Given the description of an element on the screen output the (x, y) to click on. 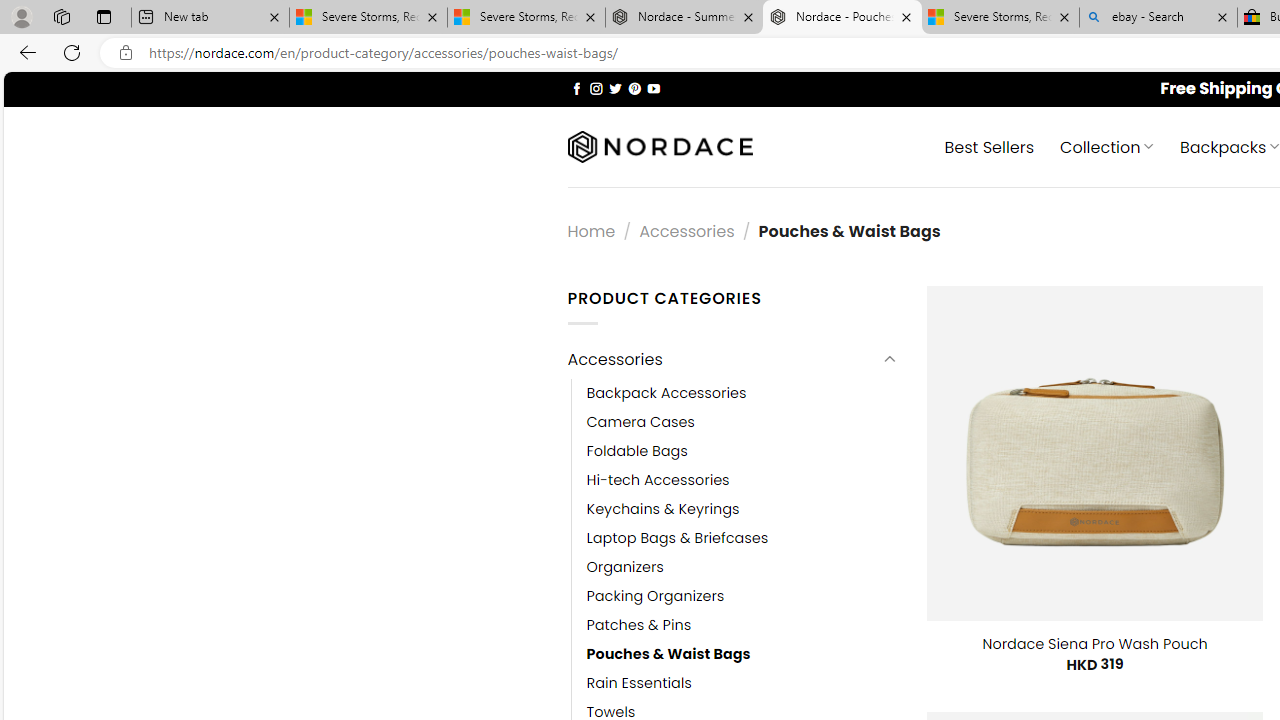
Keychains & Keyrings (662, 508)
Follow on Instagram (596, 88)
Laptop Bags & Briefcases (742, 537)
 Best Sellers (989, 146)
Rain Essentials (639, 683)
Camera Cases (640, 421)
Nordace - Pouches & Waist Bags (842, 17)
Camera Cases (742, 421)
